Given the description of an element on the screen output the (x, y) to click on. 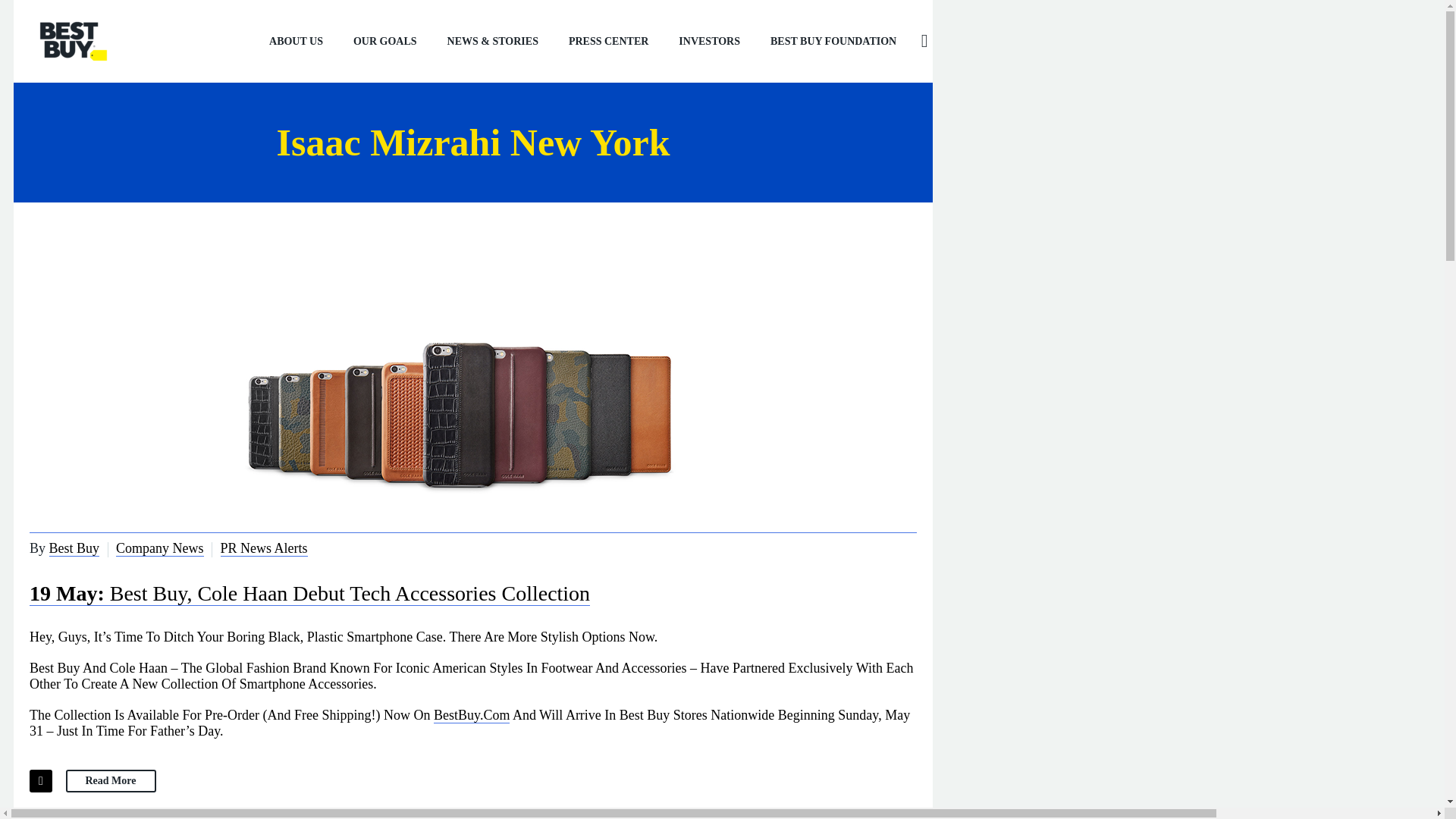
View all posts in Company News (159, 548)
Best Buy (74, 548)
Read More (110, 780)
PR News Alerts (264, 548)
OUR GOALS (384, 40)
BestBuy.Com (471, 715)
View all posts in PR News Alerts (264, 548)
PRESS CENTER (608, 40)
BEST BUY FOUNDATION (833, 40)
Company News (159, 548)
ABOUT US (295, 40)
INVESTORS (709, 40)
